Given the description of an element on the screen output the (x, y) to click on. 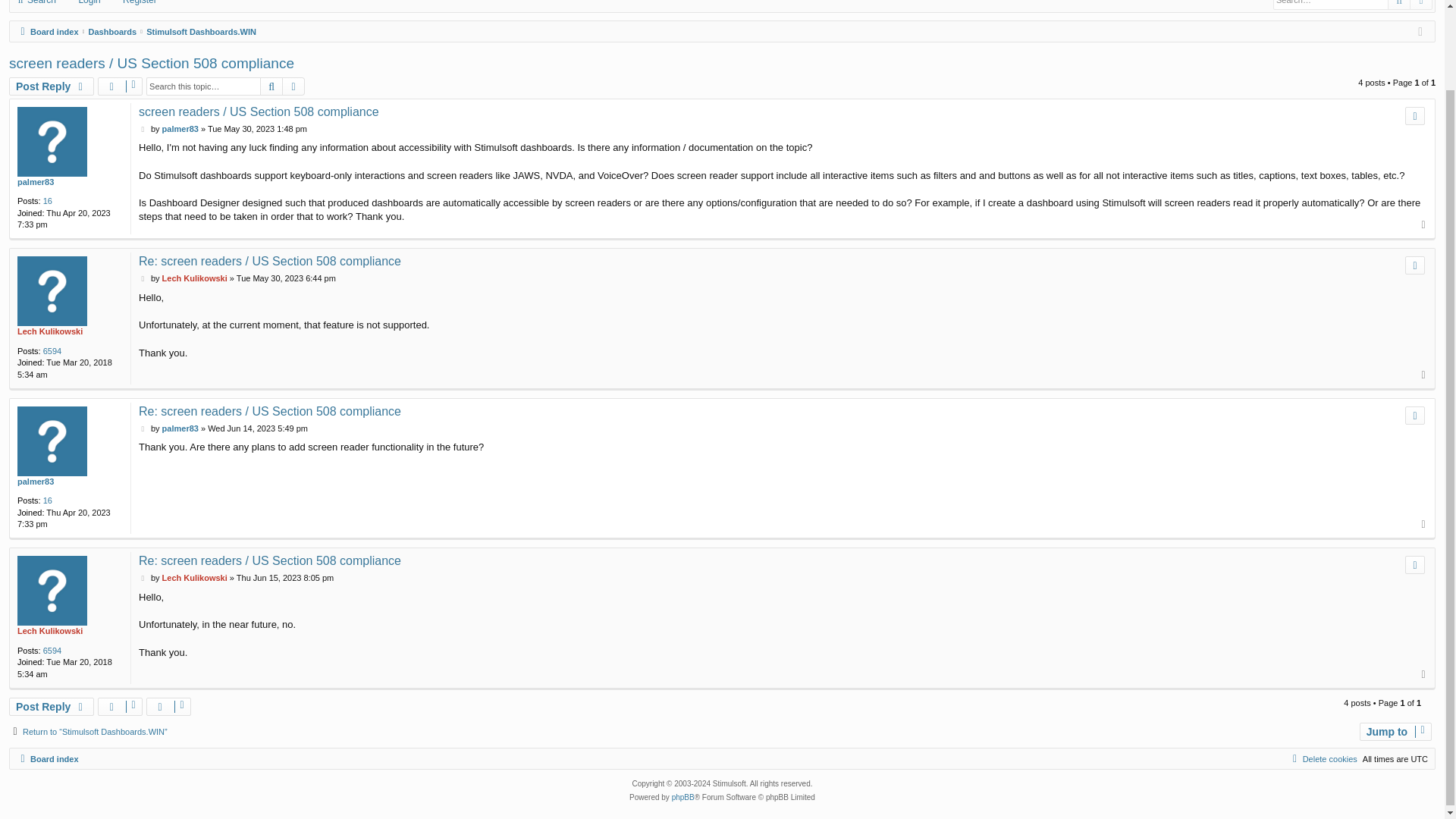
Board index (47, 31)
Advanced search (1420, 4)
Advanced search (1420, 4)
palmer83 (35, 182)
Dashboards (112, 31)
Search (1398, 4)
Search for keywords (1330, 4)
Post Reply (51, 85)
Advanced search (293, 85)
Stimulsoft Dashboards.WIN (201, 31)
Login (85, 5)
Dashboards (112, 31)
Board index (47, 31)
palmer83 (179, 129)
Quote (1415, 116)
